Given the description of an element on the screen output the (x, y) to click on. 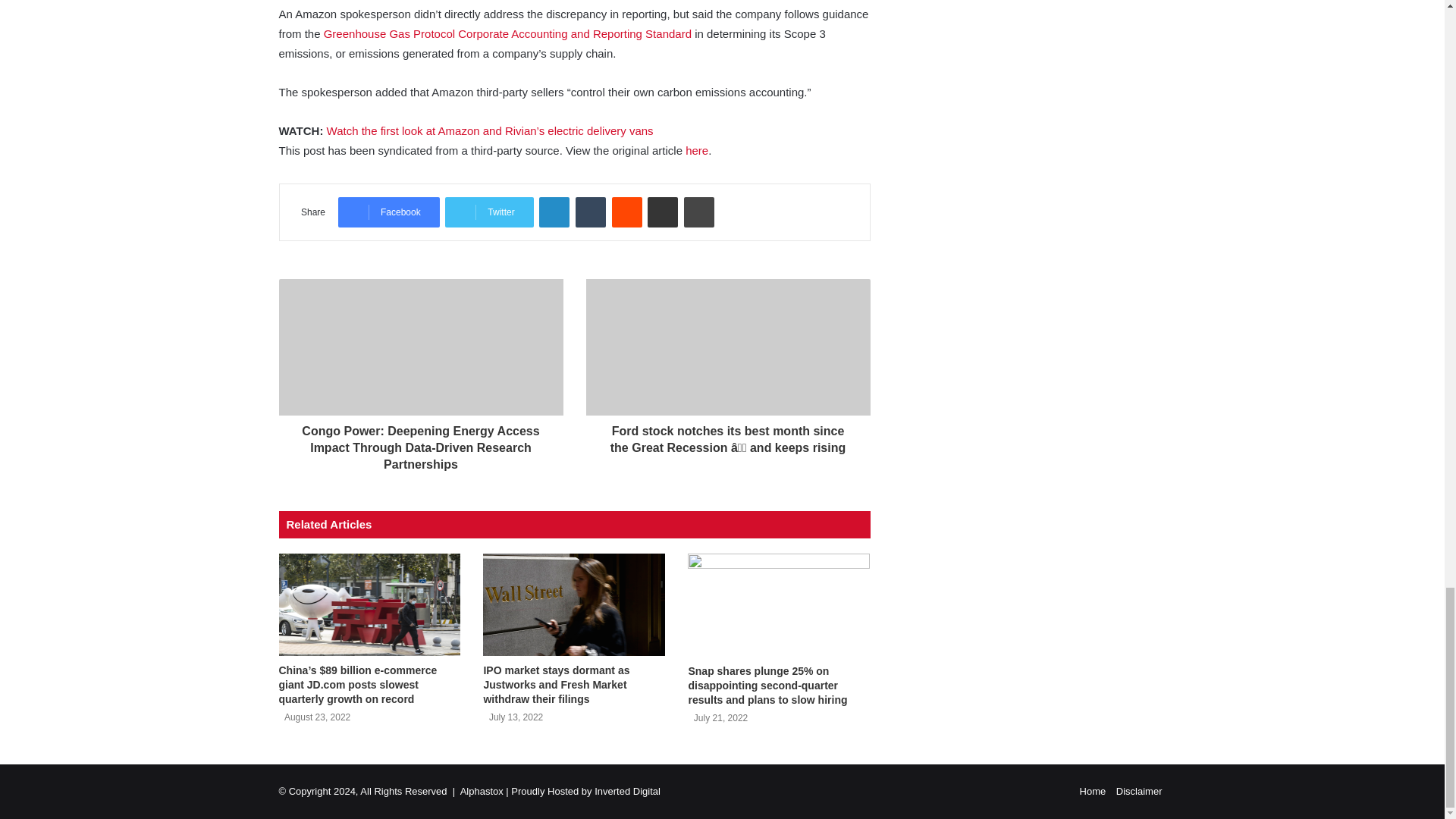
here (696, 150)
